Given the description of an element on the screen output the (x, y) to click on. 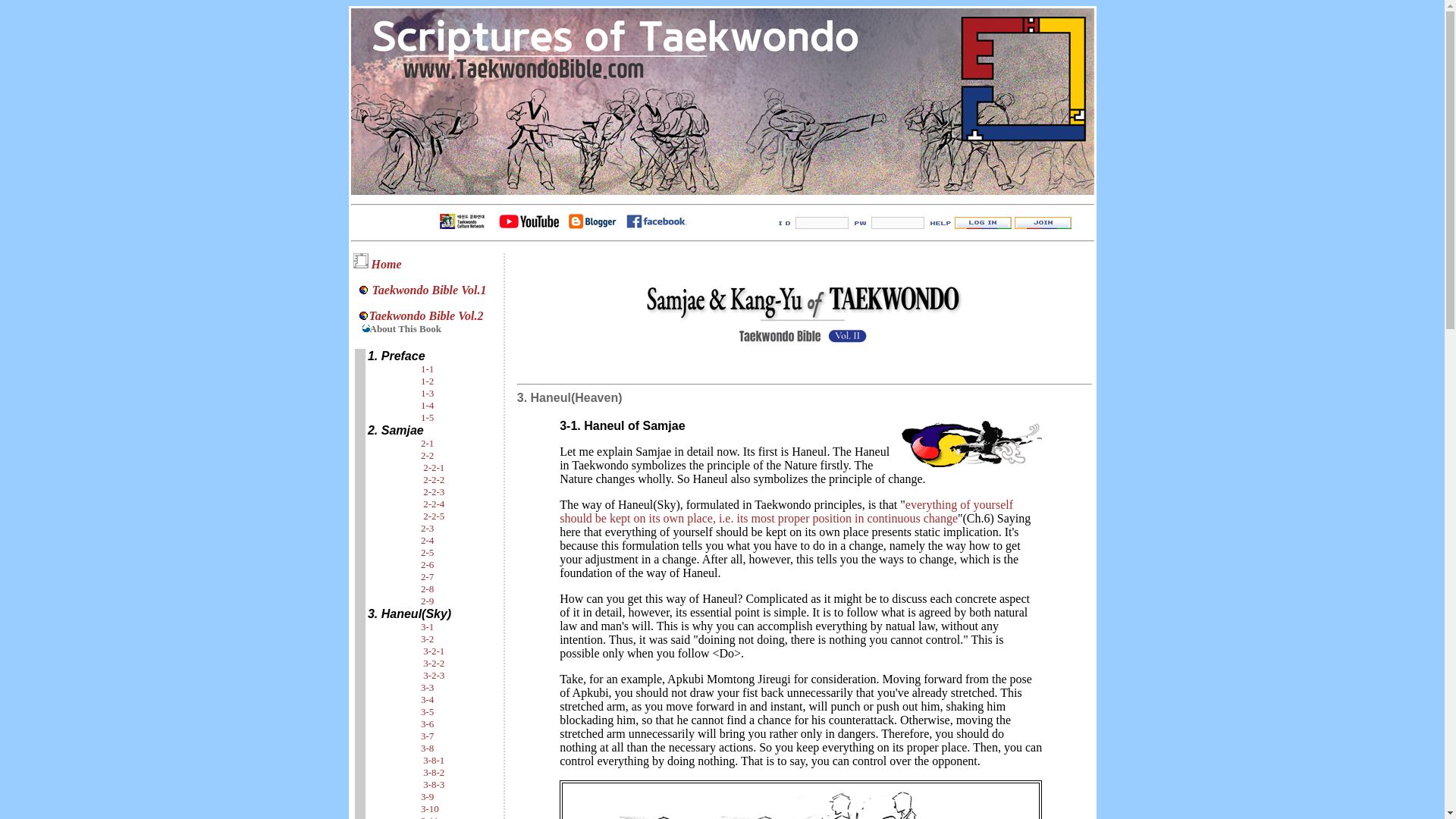
2-2-1 (433, 467)
3-2-2 (433, 663)
1-2 (426, 380)
Taekwondo Bible Vol.2 (425, 315)
3-4 (426, 699)
2-2-5 (433, 515)
2-4 (426, 540)
Home (386, 264)
2-3 (426, 527)
2-9 (426, 600)
